Given the description of an element on the screen output the (x, y) to click on. 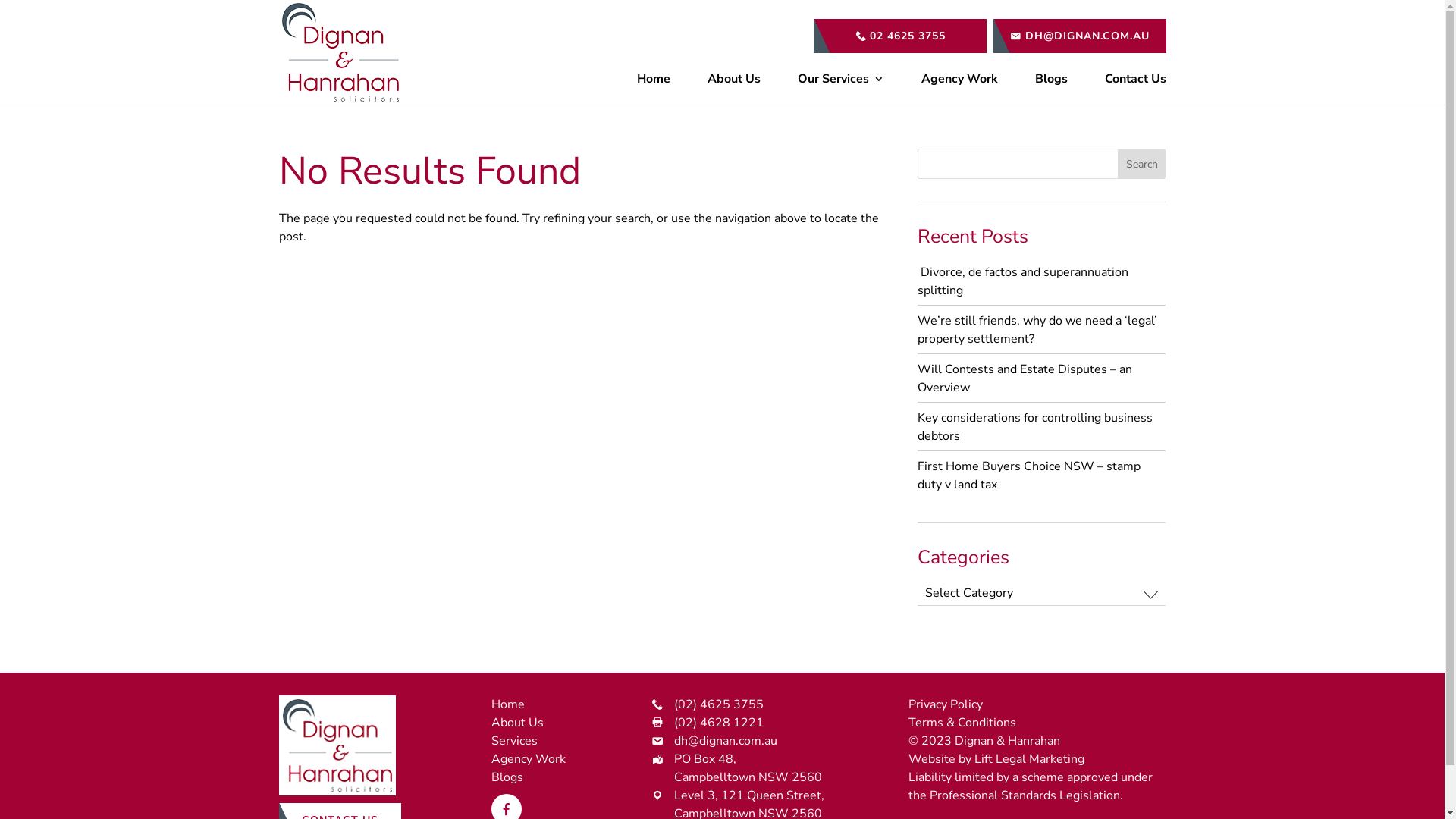
dh@dignan.com.au Element type: text (725, 740)
Terms & Conditions Element type: text (962, 722)
(02) 4625 3755 Element type: text (718, 704)
Search Element type: text (1141, 163)
Blogs Element type: text (1050, 83)
Contact Us Element type: text (1134, 83)
DH@DIGNAN.COM.AU Element type: text (1079, 35)
Lift Legal Marketing Element type: text (1029, 758)
Privacy Policy Element type: text (945, 704)
02 4625 3755 Element type: text (898, 35)
Our Services Element type: text (840, 83)
Agency Work Element type: text (528, 758)
Services Element type: text (514, 740)
About Us Element type: text (517, 722)
Blogs Element type: text (507, 776)
About Us Element type: text (732, 83)
 Divorce, de factos and superannuation splitting Element type: text (1022, 280)
Agency Work Element type: text (958, 83)
Home Element type: text (507, 704)
Key considerations for controlling business debtors Element type: text (1034, 426)
Home Element type: text (653, 83)
